Given the description of an element on the screen output the (x, y) to click on. 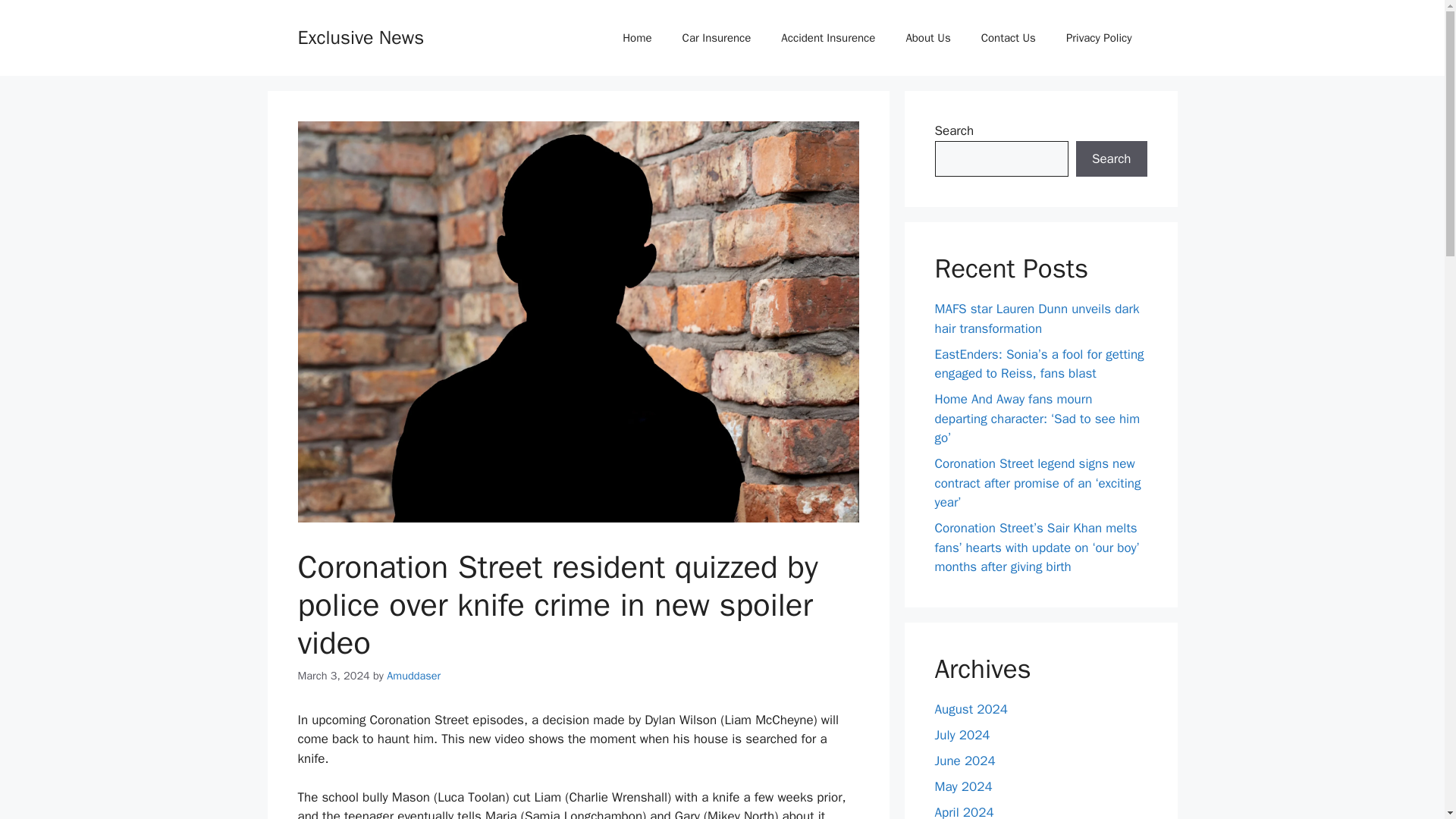
Search (1111, 158)
Home (636, 37)
MAFS star Lauren Dunn unveils dark hair transformation (1036, 318)
Contact Us (1008, 37)
June 2024 (964, 760)
About Us (927, 37)
Exclusive News (360, 37)
Privacy Policy (1099, 37)
May 2024 (962, 785)
Accident Insurence (827, 37)
View all posts by Amuddaser (414, 675)
August 2024 (970, 708)
July 2024 (962, 734)
Car Insurence (716, 37)
Amuddaser (414, 675)
